Given the description of an element on the screen output the (x, y) to click on. 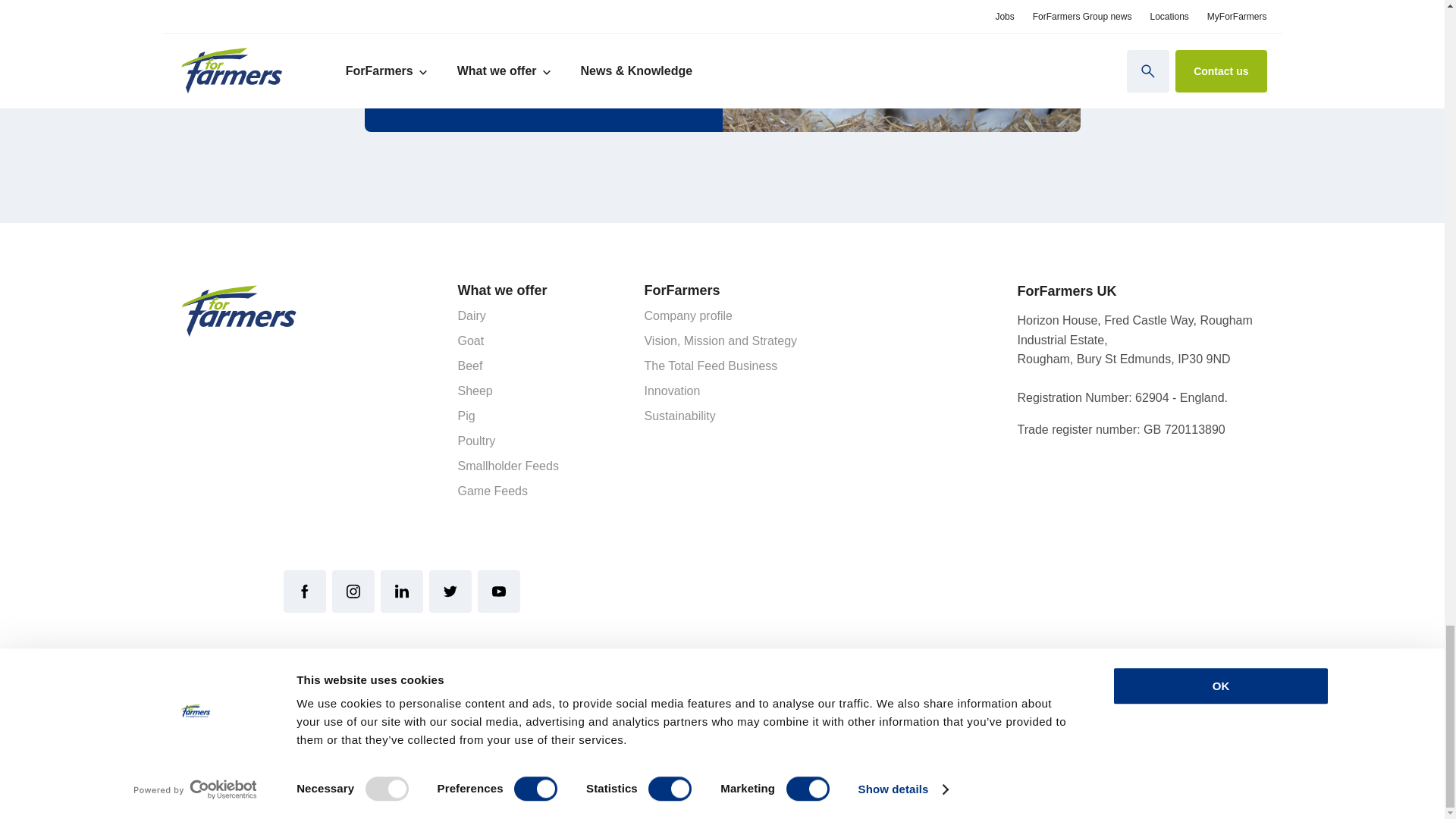
ForFarmers Facebook page (304, 591)
ForFarmers Twitter profile (450, 591)
ForFarmers LinkedIN page (401, 591)
ForFarmers Instagram profile (352, 591)
ForFarmers YouTube page (498, 591)
